Given the description of an element on the screen output the (x, y) to click on. 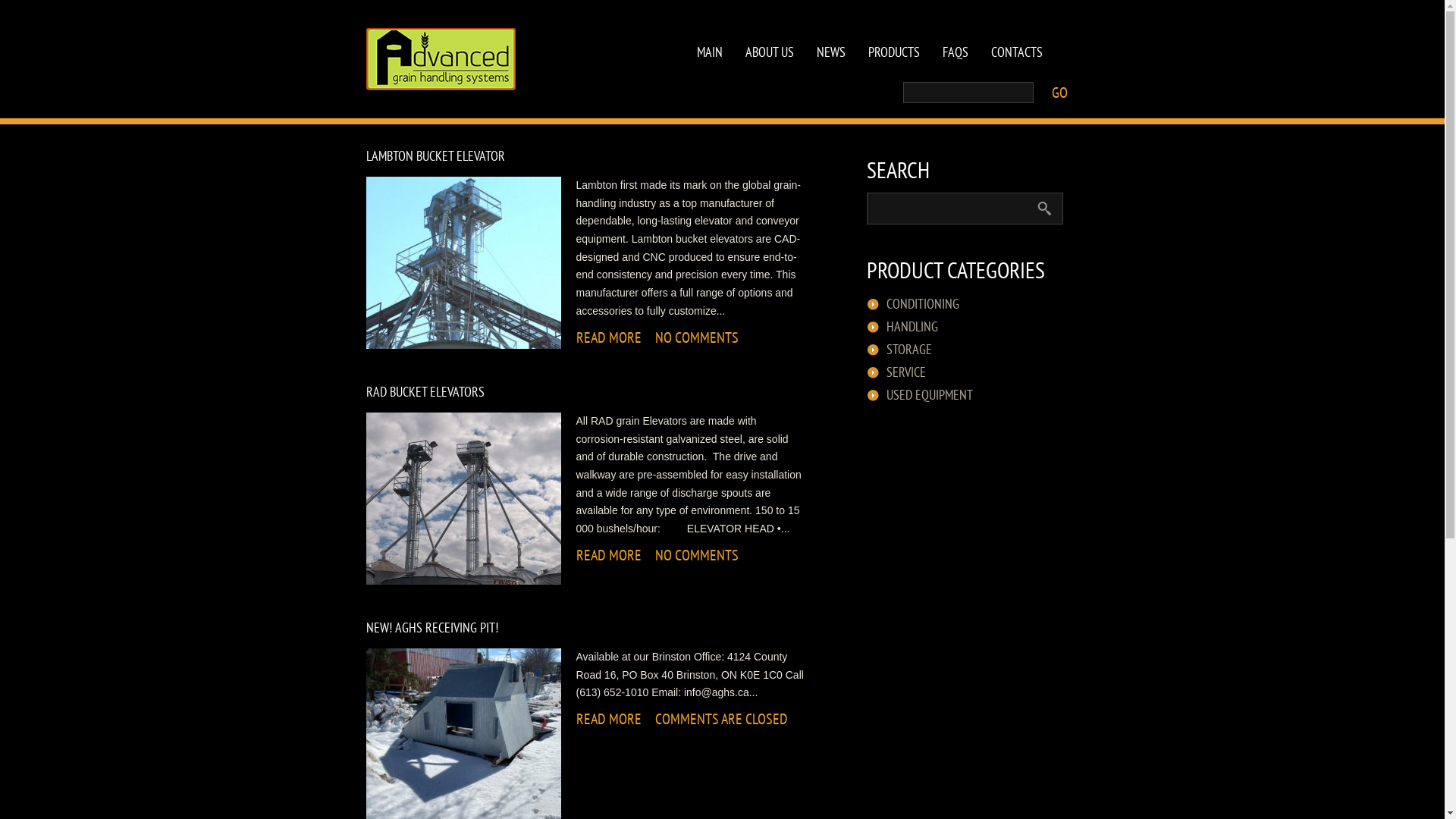
LAMBTON BUCKET ELEVATOR Element type: text (434, 155)
CONTACTS Element type: text (1016, 33)
CONDITIONING Element type: text (921, 303)
READ MORE Element type: text (608, 718)
Search Element type: text (1044, 208)
READ MORE Element type: text (608, 555)
NO COMMENTS Element type: text (696, 336)
NO COMMENTS Element type: text (696, 555)
USED EQUIPMENT Element type: text (928, 394)
ABOUT US Element type: text (769, 33)
GO Element type: text (1059, 92)
NEW! AGHS RECEIVING PIT! Element type: text (431, 627)
SERVICE Element type: text (905, 372)
FAQS Element type: text (955, 33)
RAD BUCKET ELEVATORS Element type: text (424, 391)
HANDLING Element type: text (911, 326)
STORAGE Element type: text (908, 349)
MAIN Element type: text (709, 33)
READ MORE Element type: text (608, 336)
